Given the description of an element on the screen output the (x, y) to click on. 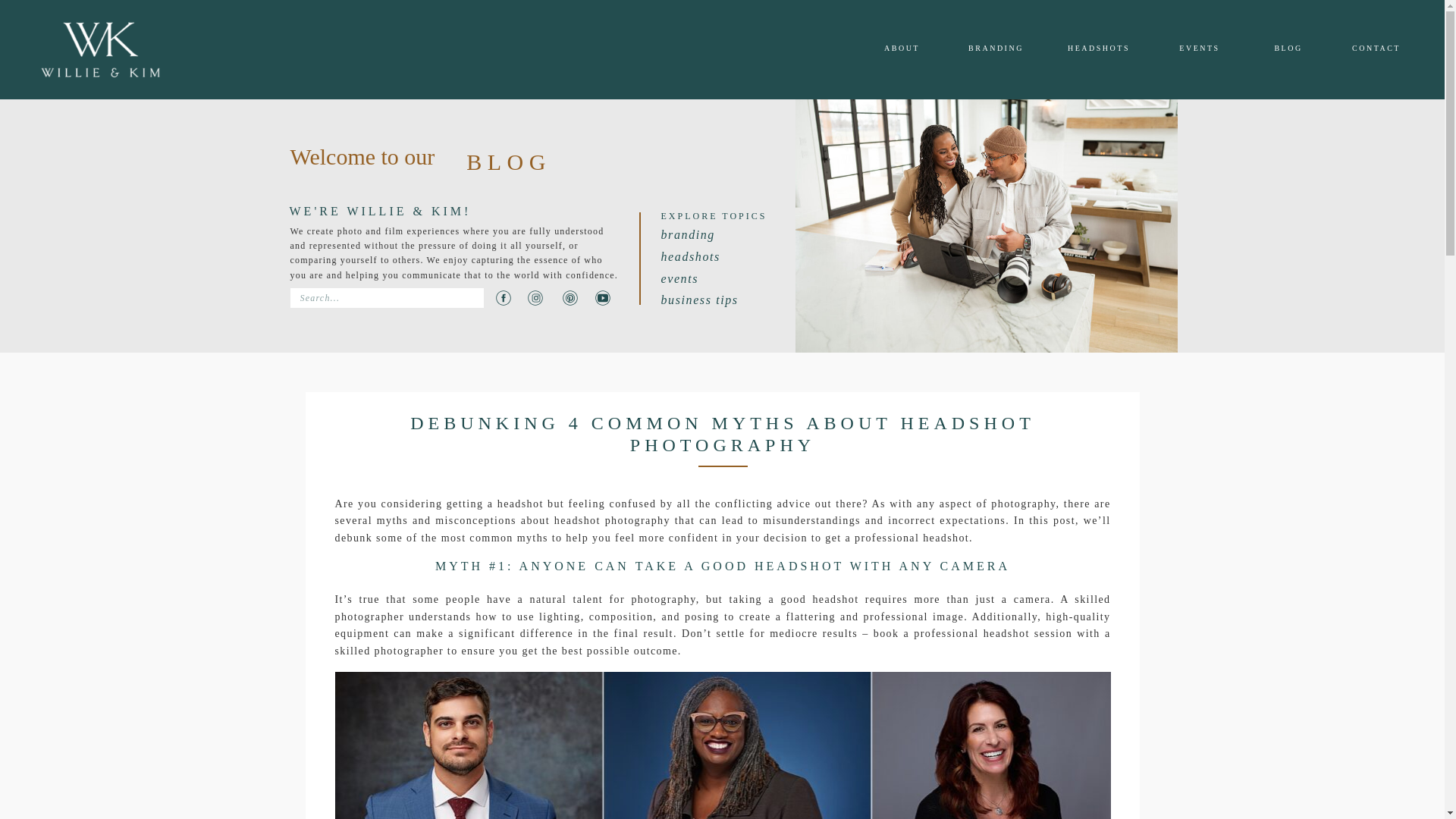
BLOG (1288, 49)
HEADSHOTS (1098, 49)
EVENTS (1199, 49)
events (679, 278)
business tips (699, 299)
ABOUT (901, 49)
BRANDING (995, 49)
headshots (690, 256)
CONTACT (1376, 49)
branding (687, 234)
